Given the description of an element on the screen output the (x, y) to click on. 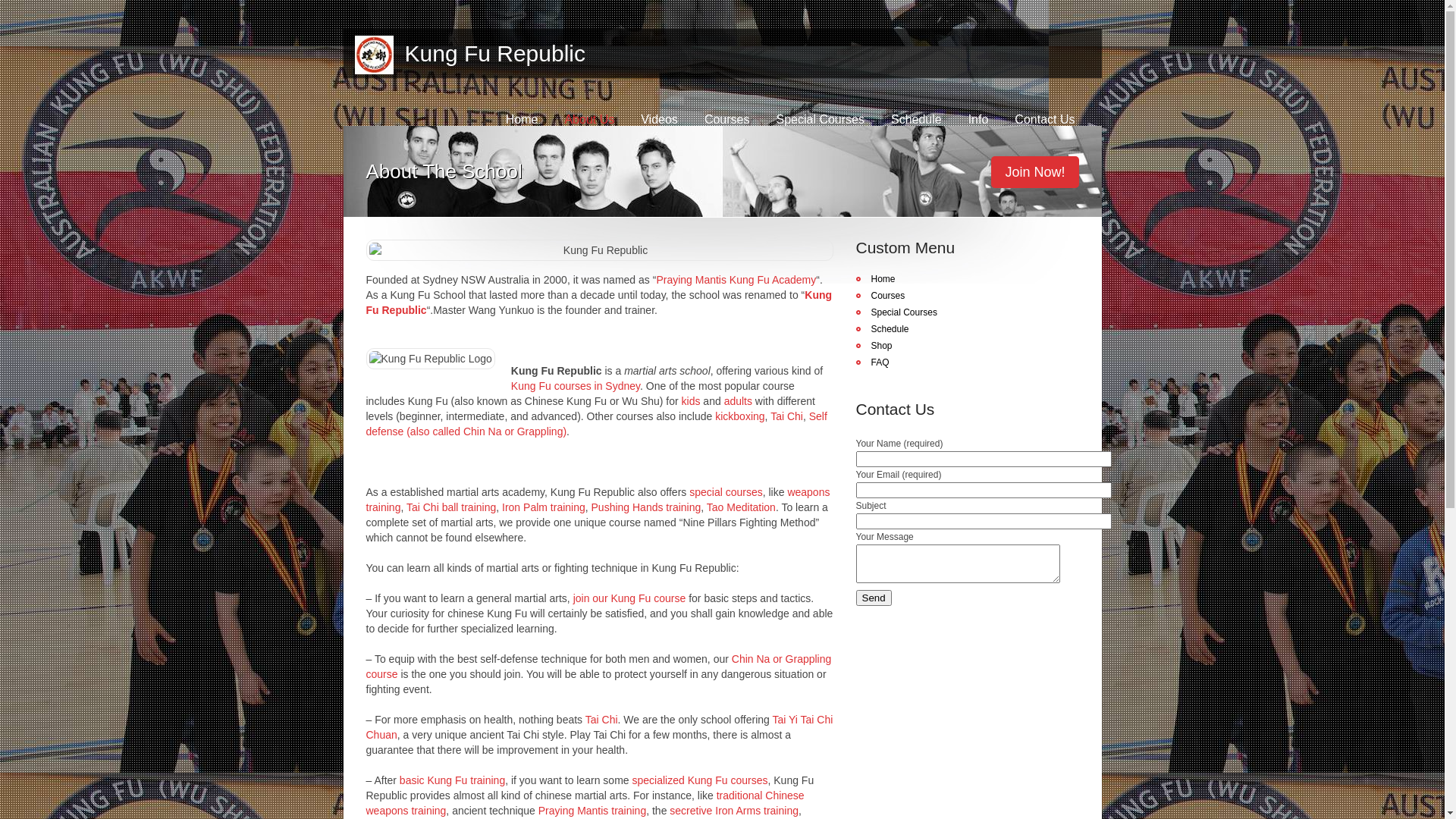
traditional Chinese weapons training Element type: text (584, 802)
Tai Chi Element type: text (786, 416)
secretive Iron Arms training Element type: text (733, 810)
Courses Element type: text (879, 295)
Kung Fu courses in Sydney Element type: text (575, 385)
Join Now! Element type: text (1034, 172)
Home Element type: text (874, 278)
kickboxing Element type: text (739, 416)
Tai Chi Element type: text (601, 719)
Chin Na or Grappling course Element type: text (598, 666)
Special Courses Element type: text (895, 311)
Pushing Hands training Element type: text (646, 507)
special courses Element type: text (725, 492)
Info Element type: text (978, 118)
Kung Fu Republic Element type: text (488, 52)
Home Element type: text (521, 118)
Videos Element type: text (658, 118)
Tai Chi ball training Element type: text (450, 507)
Schedule Element type: text (916, 118)
Tao Meditation Element type: text (740, 507)
basic Kung Fu training Element type: text (452, 780)
adults Element type: text (738, 401)
Iron Palm training Element type: text (543, 507)
kids Element type: text (690, 401)
Courses Element type: text (726, 118)
Tai Yi Tai Chi Chuan Element type: text (598, 726)
Send Element type: text (873, 597)
Schedule Element type: text (881, 328)
Praying Mantis training Element type: text (592, 810)
Self defense (also called Chin Na or Grappling) Element type: text (595, 423)
Shop Element type: text (873, 345)
Praying Mantis Kung Fu Academy Element type: text (735, 279)
weapons training Element type: text (597, 499)
specialized Kung Fu courses Element type: text (699, 780)
About Us Element type: text (589, 118)
join our Kung Fu course Element type: text (629, 598)
Special Courses Element type: text (819, 118)
Contact Us Element type: text (1044, 118)
FAQ Element type: text (871, 362)
Kung Fu Republic Element type: text (598, 302)
